Given the description of an element on the screen output the (x, y) to click on. 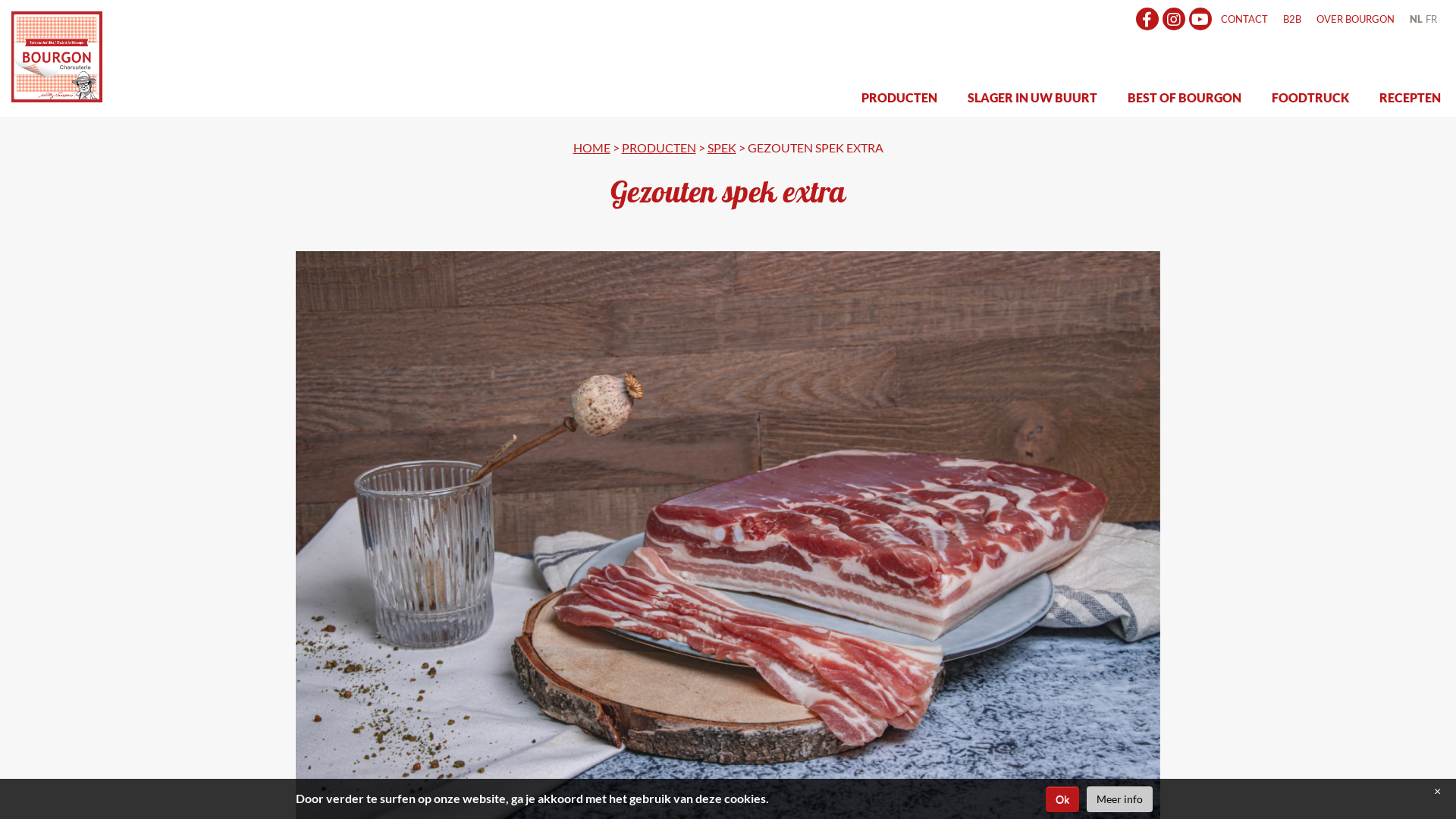
B2B Element type: text (1291, 18)
SPEK Element type: text (720, 147)
Meer info Element type: text (1119, 799)
CONTACT Element type: text (1244, 18)
NL Element type: text (1413, 18)
FOODTRUCK Element type: text (1310, 97)
PRODUCTEN Element type: text (658, 147)
OVER BOURGON Element type: text (1355, 18)
FR Element type: text (1434, 18)
PRODUCTEN Element type: text (899, 97)
Ok Element type: text (1062, 799)
SLAGER IN UW BUURT Element type: text (1032, 97)
BEST OF BOURGON Element type: text (1184, 97)
HOME Element type: text (591, 147)
